Given the description of an element on the screen output the (x, y) to click on. 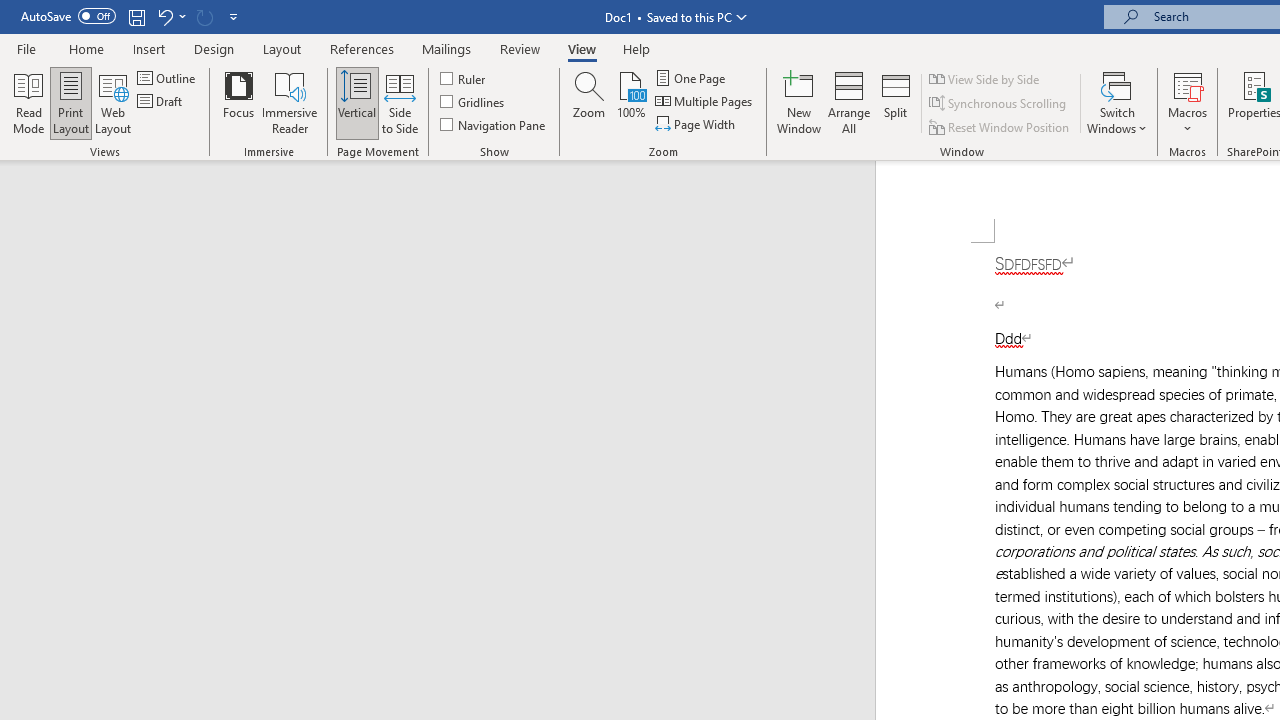
One Page (691, 78)
View Macros (1187, 84)
100% (630, 102)
Zoom... (589, 102)
Synchronous Scrolling (998, 103)
Gridlines (473, 101)
Arrange All (848, 102)
